Given the description of an element on the screen output the (x, y) to click on. 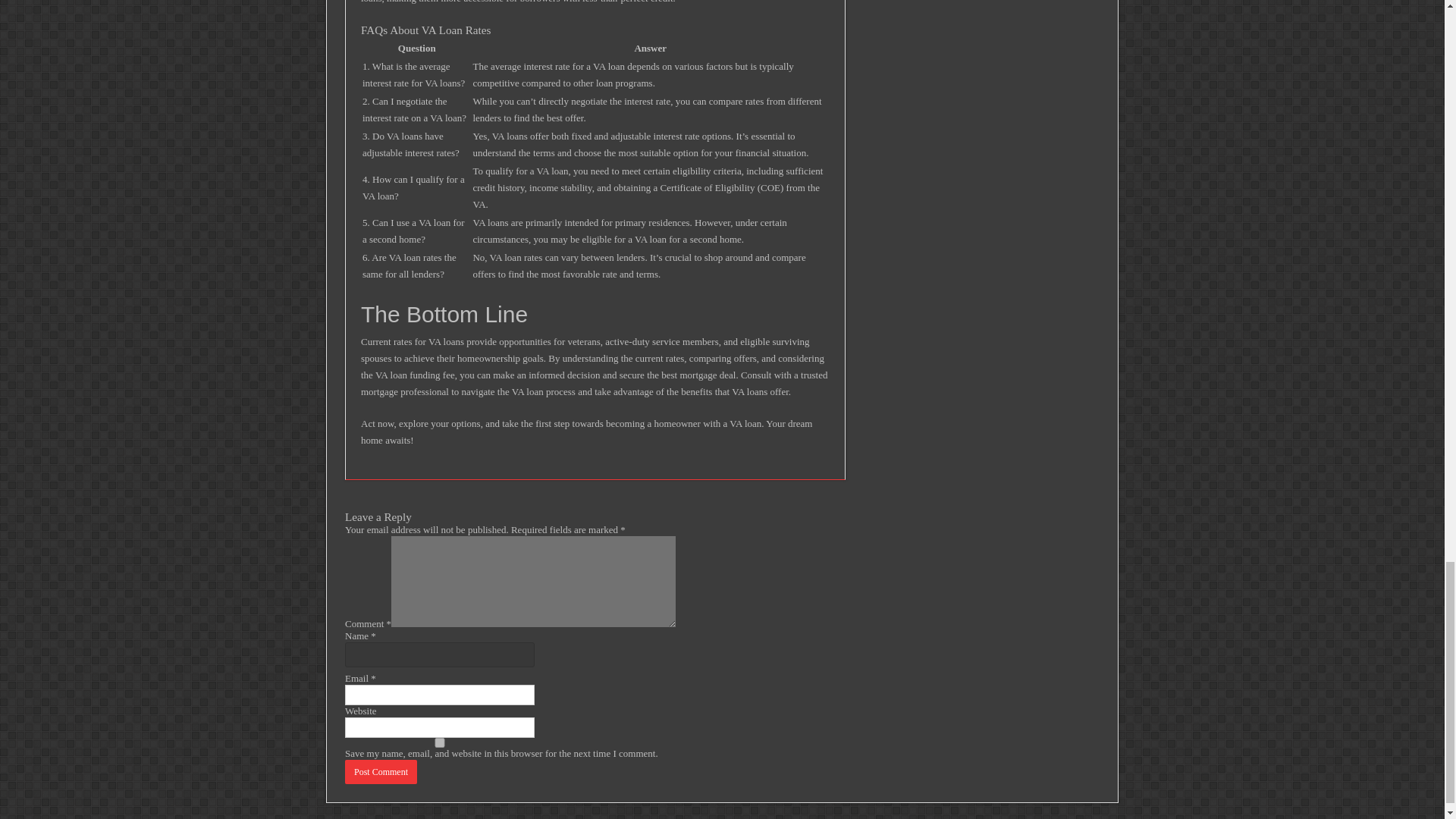
Post Comment (380, 771)
Post Comment (380, 771)
yes (439, 742)
